Given the description of an element on the screen output the (x, y) to click on. 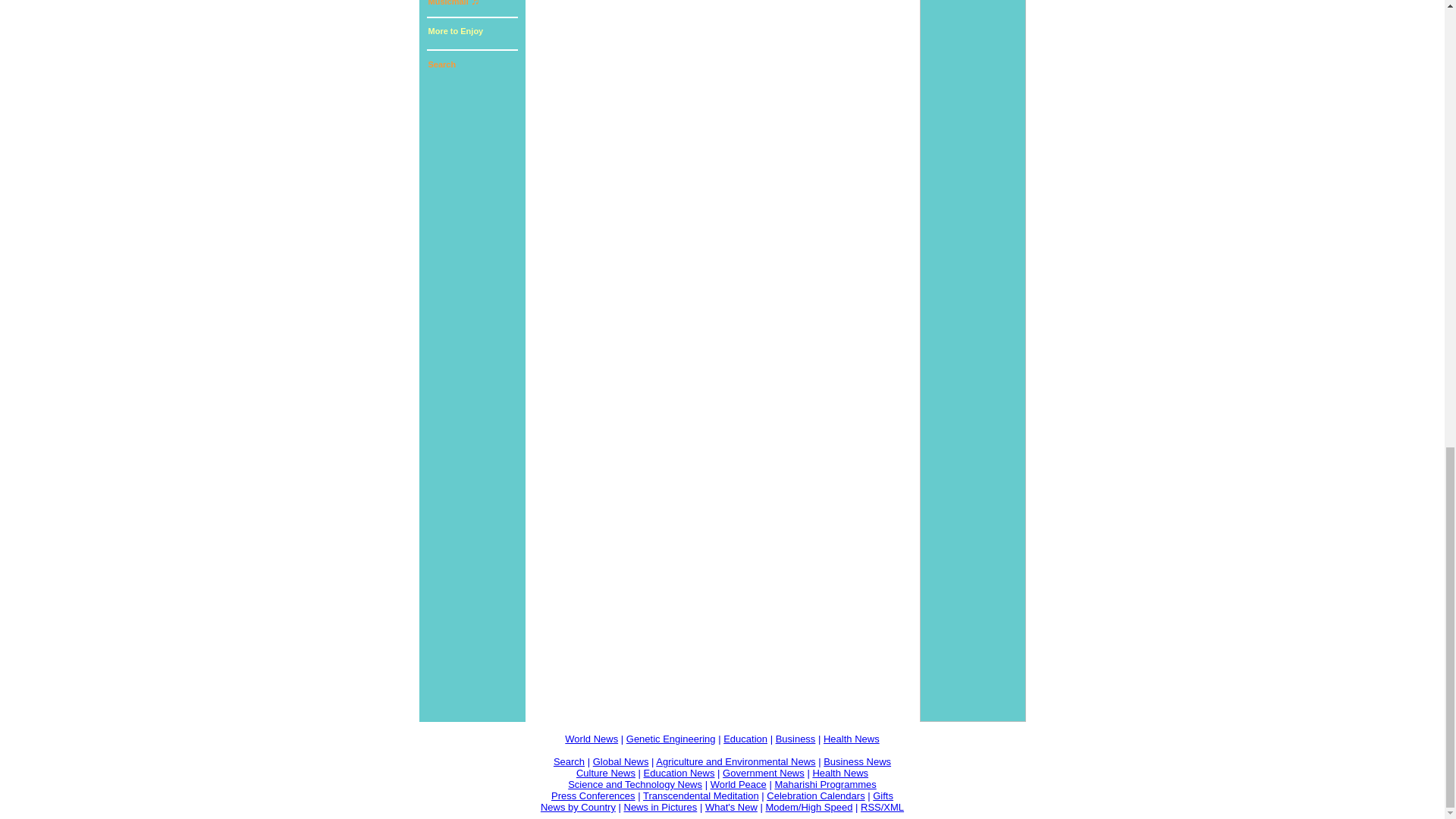
More to Enjoy (470, 32)
